Given the description of an element on the screen output the (x, y) to click on. 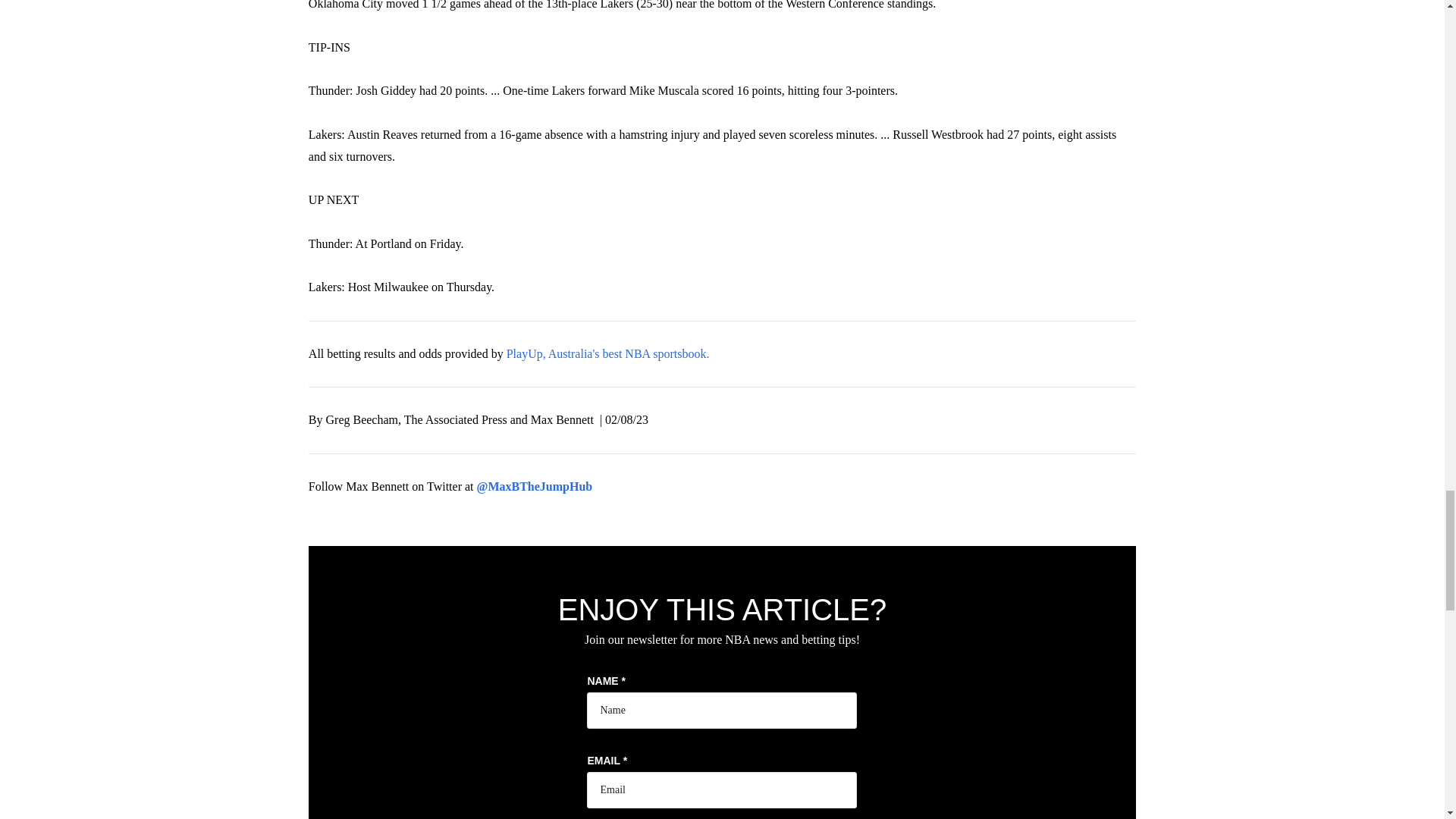
PlayUp, Australia's best NBA sportsbook. (608, 353)
